Given the description of an element on the screen output the (x, y) to click on. 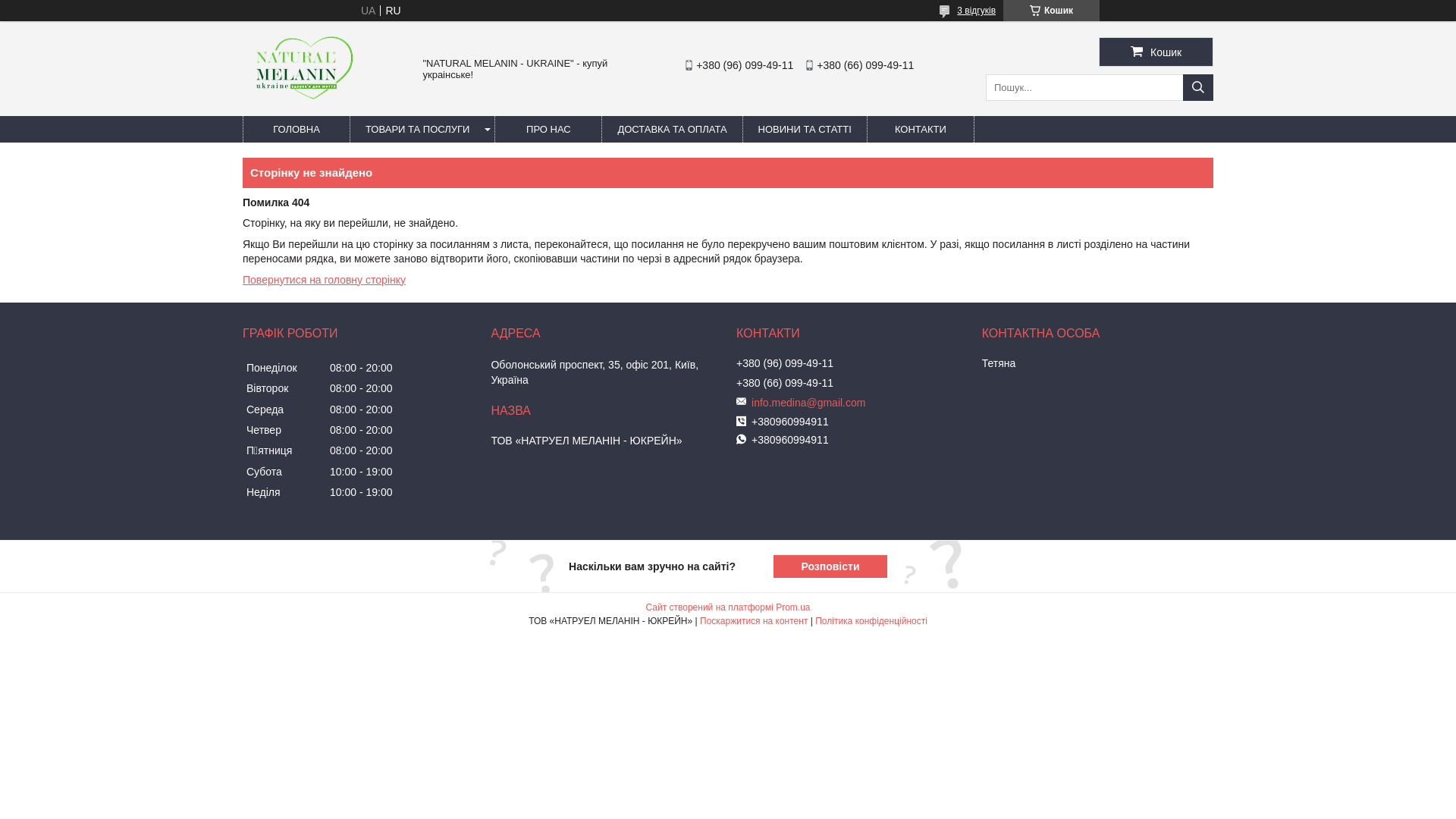
UA Element type: text (367, 10)
RU Element type: text (391, 10)
info.medina@gmail.com Element type: text (860, 402)
